Given the description of an element on the screen output the (x, y) to click on. 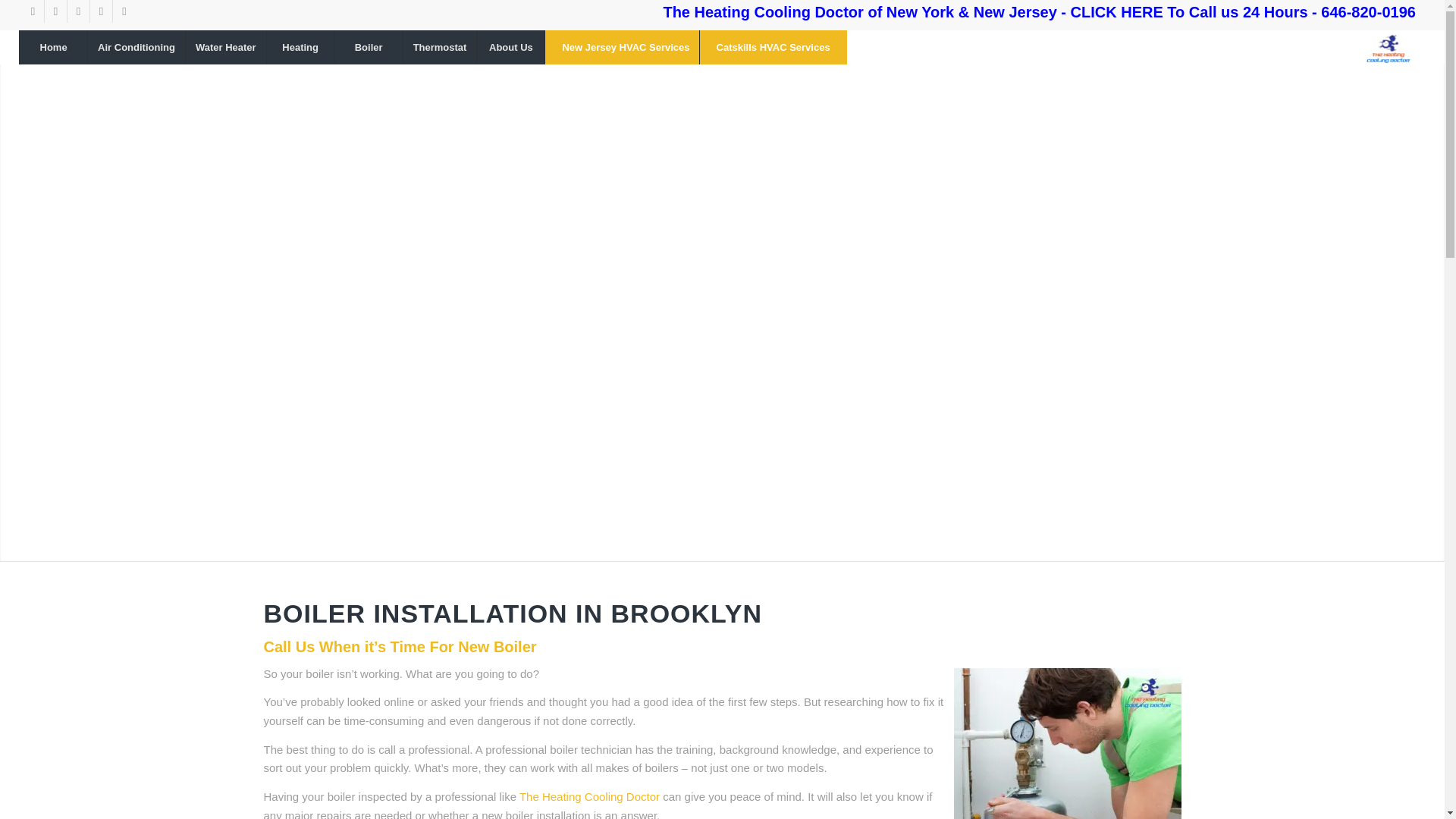
Instagram (77, 11)
About Us (510, 47)
Water Heater (225, 47)
Air Conditioning (135, 47)
Heating (300, 47)
Yelp (55, 11)
Home (52, 47)
Facebook (124, 11)
New Jersey HVAC Services (625, 47)
Thermostat (440, 47)
Boiler (368, 47)
Youtube (101, 11)
Catskills HVAC Services (772, 47)
Twitter (32, 11)
